Given the description of an element on the screen output the (x, y) to click on. 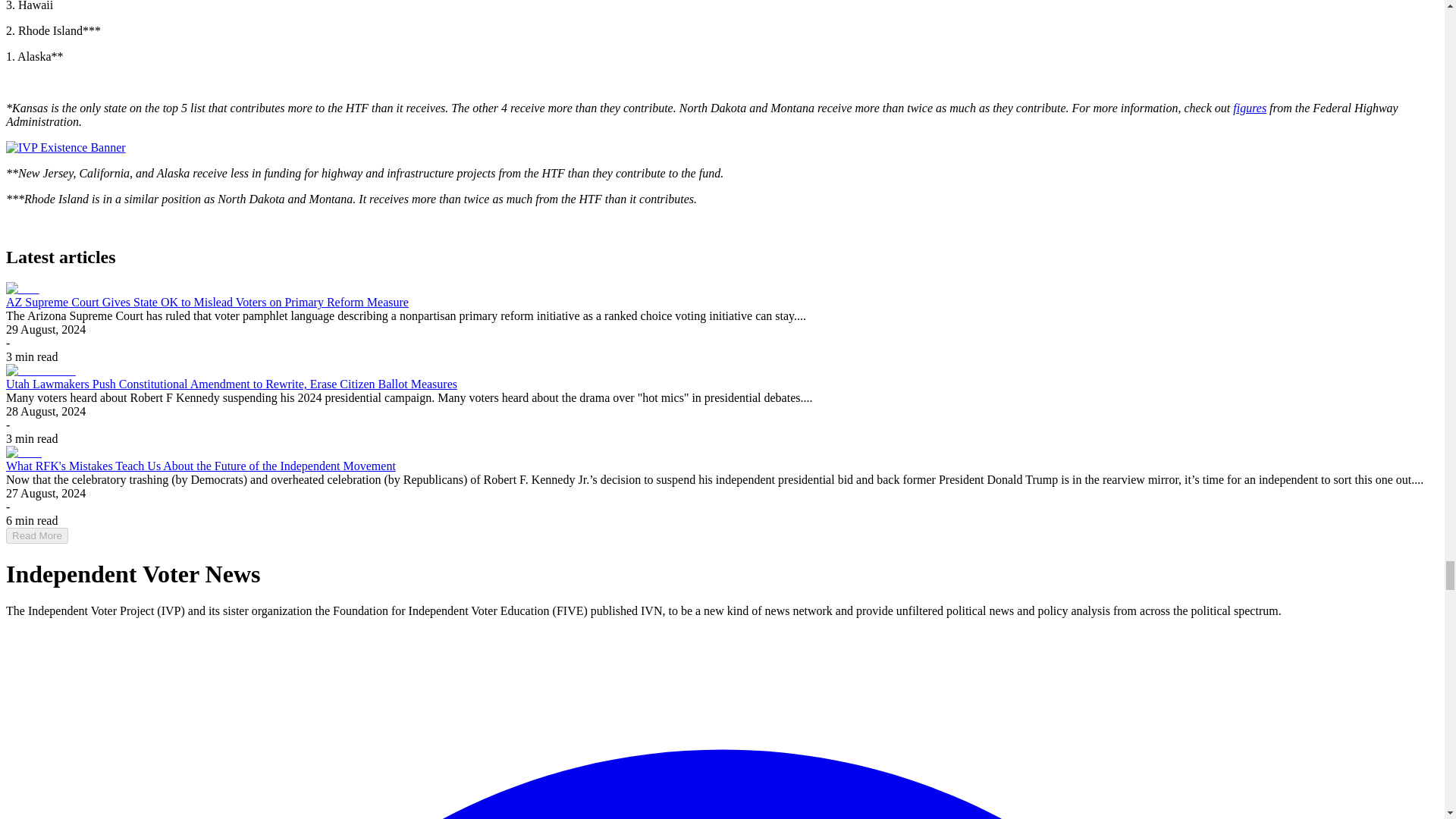
figures (1249, 107)
Read More (36, 535)
